Given the description of an element on the screen output the (x, y) to click on. 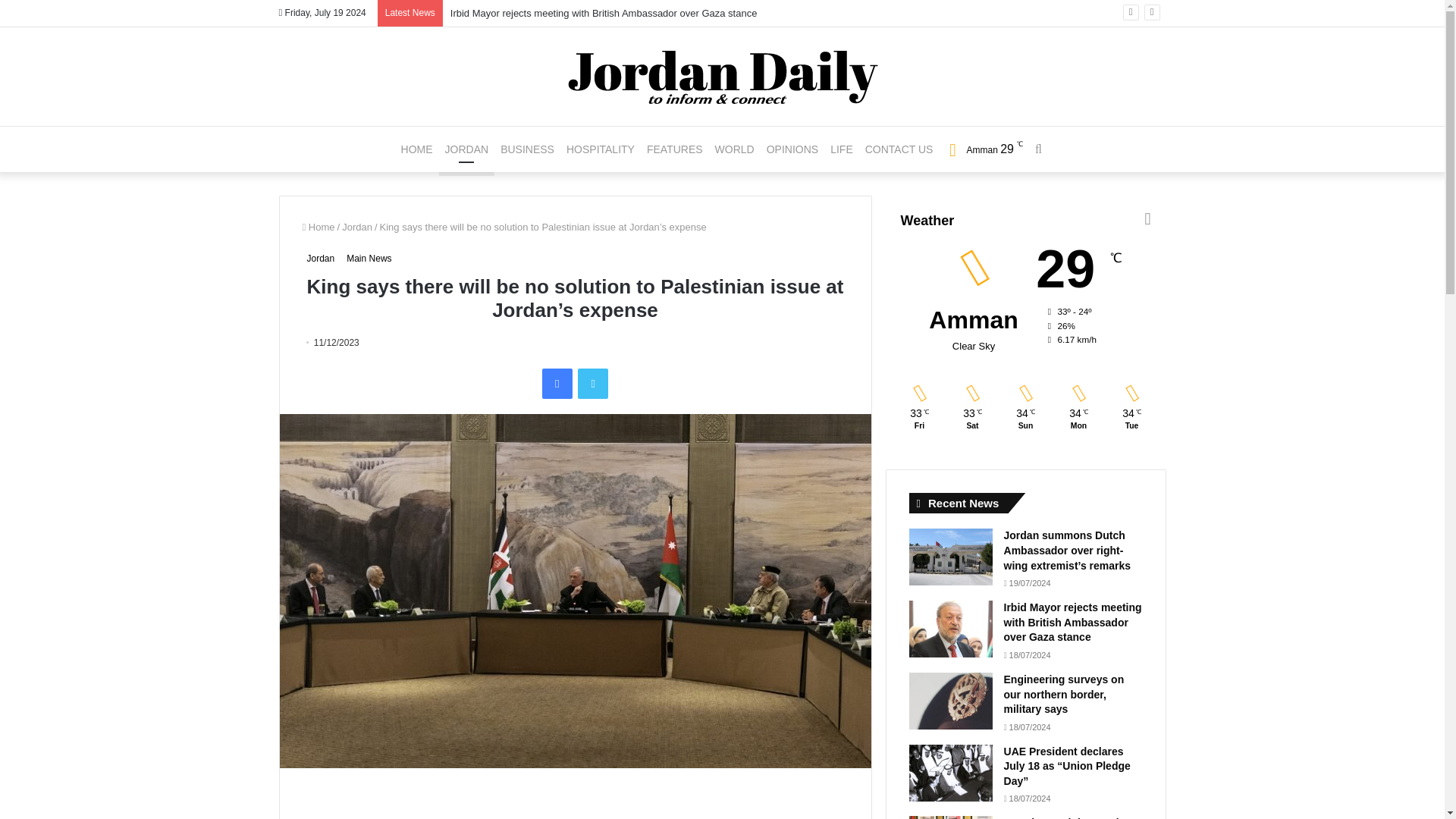
HOSPITALITY (600, 148)
Facebook (556, 383)
Facebook (556, 383)
Clear Sky (981, 148)
BUSINESS (527, 148)
WORLD (734, 148)
Engineering surveys on our northern border, military says (1064, 693)
OPINIONS (792, 148)
Jordan (320, 258)
Jordan (357, 226)
CONTACT US (899, 148)
Jordan Daily (721, 76)
Home (317, 226)
